Given the description of an element on the screen output the (x, y) to click on. 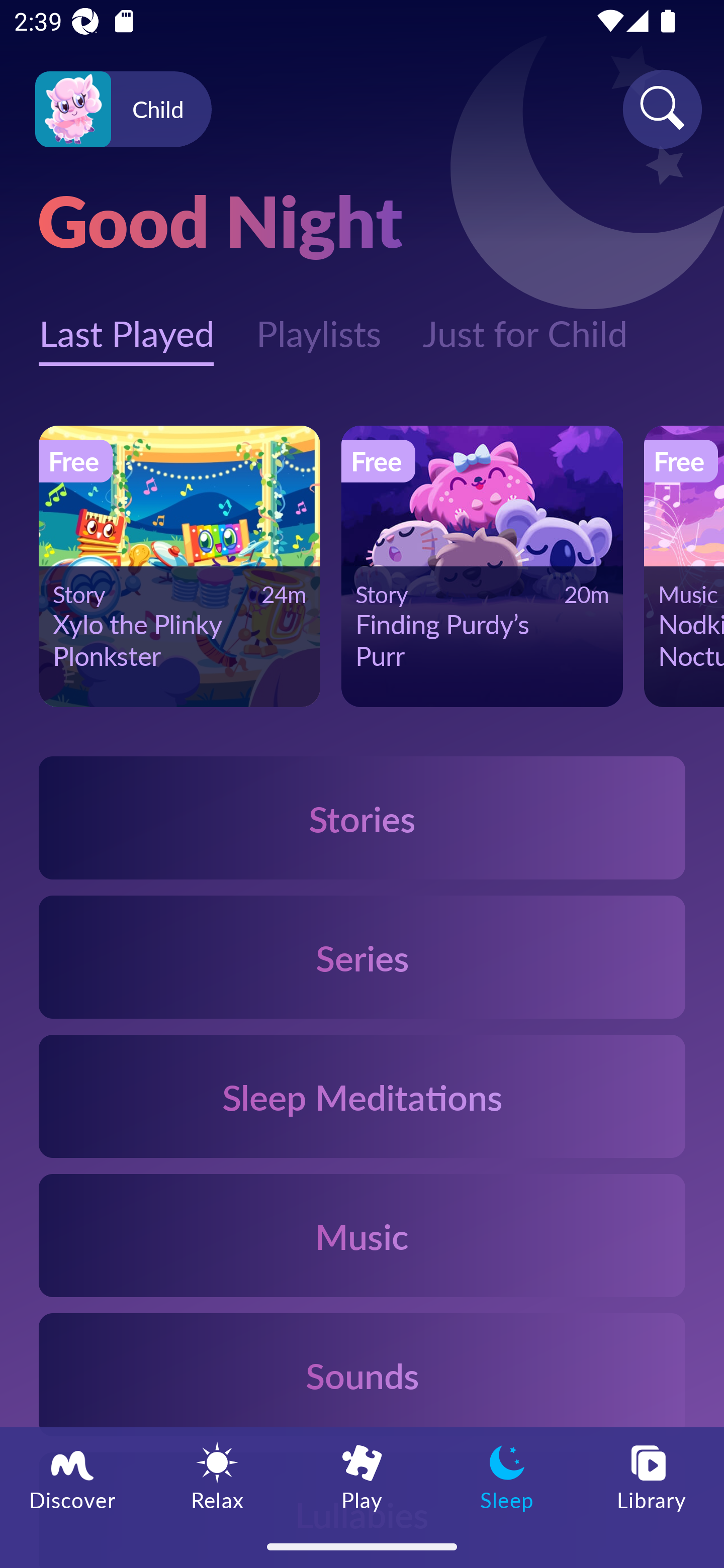
Profile icon Child (123, 109)
Playlists (317, 322)
Just for Child (524, 322)
Stories (361, 817)
Series (361, 957)
Sleep Meditations (361, 1096)
Music (361, 1234)
Sounds (361, 1374)
Discover (72, 1475)
Relax (216, 1475)
Play (361, 1475)
Library (651, 1475)
